Given the description of an element on the screen output the (x, y) to click on. 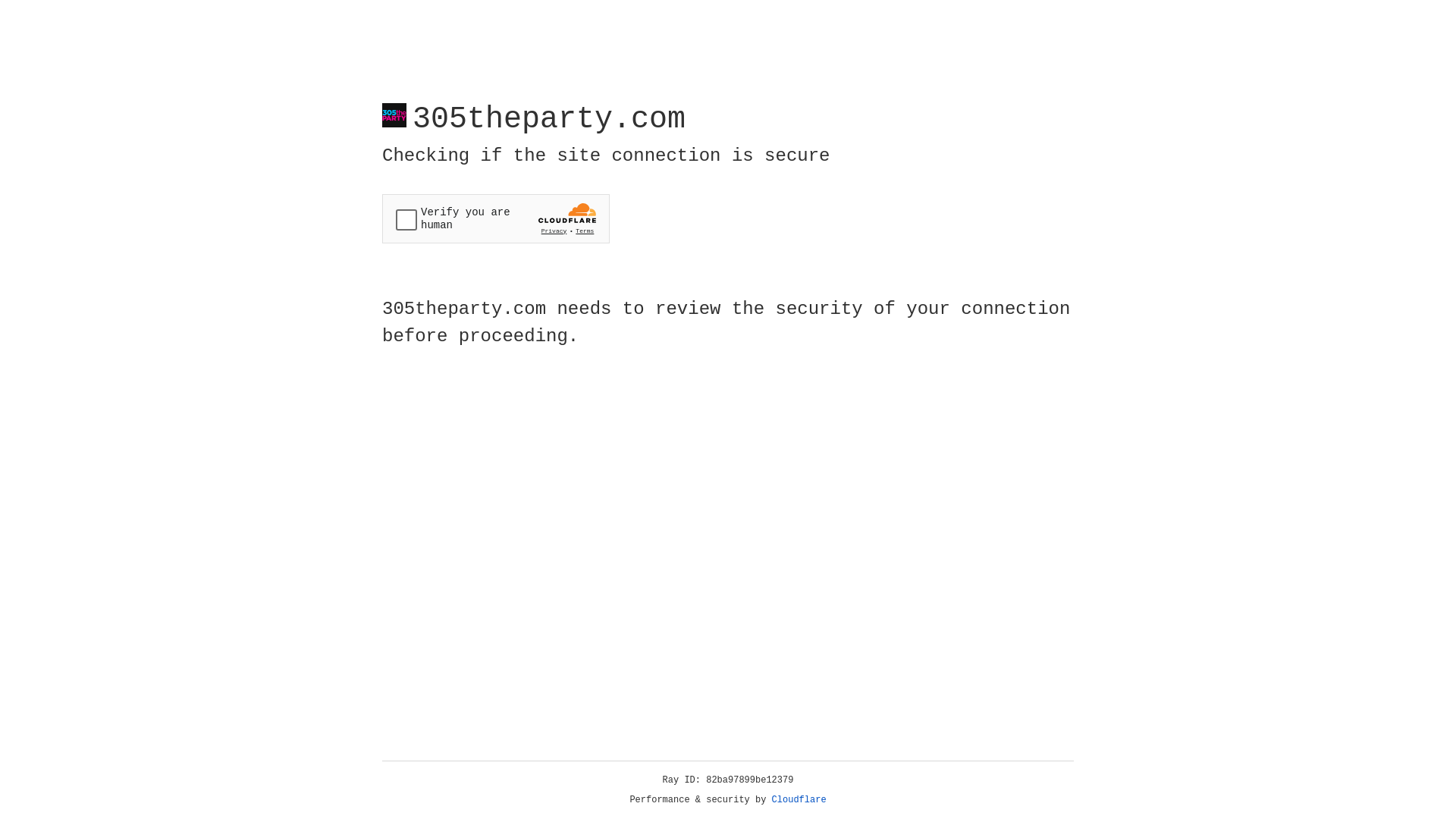
Widget containing a Cloudflare security challenge Element type: hover (495, 218)
Cloudflare Element type: text (798, 799)
